Given the description of an element on the screen output the (x, y) to click on. 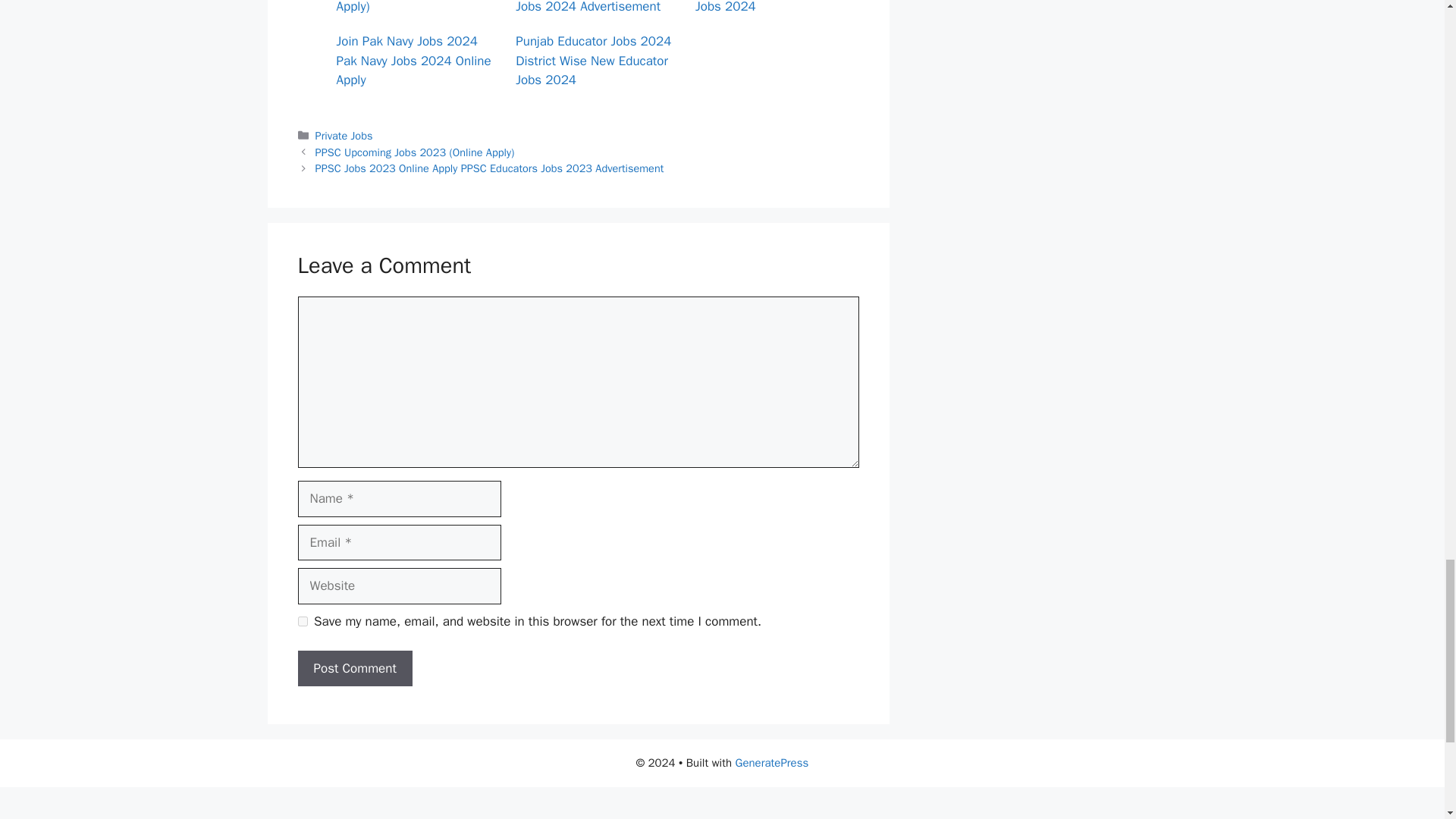
Private Jobs (343, 135)
yes (302, 621)
NBP Bank Jobs 2024 National Bank of Pakistan Jobs 2024 (768, 7)
GeneratePress (772, 762)
Post Comment (354, 668)
Post Comment (354, 668)
Join Pak Navy Jobs 2024 Pak Navy Jobs 2024 Online Apply (414, 60)
